Given the description of an element on the screen output the (x, y) to click on. 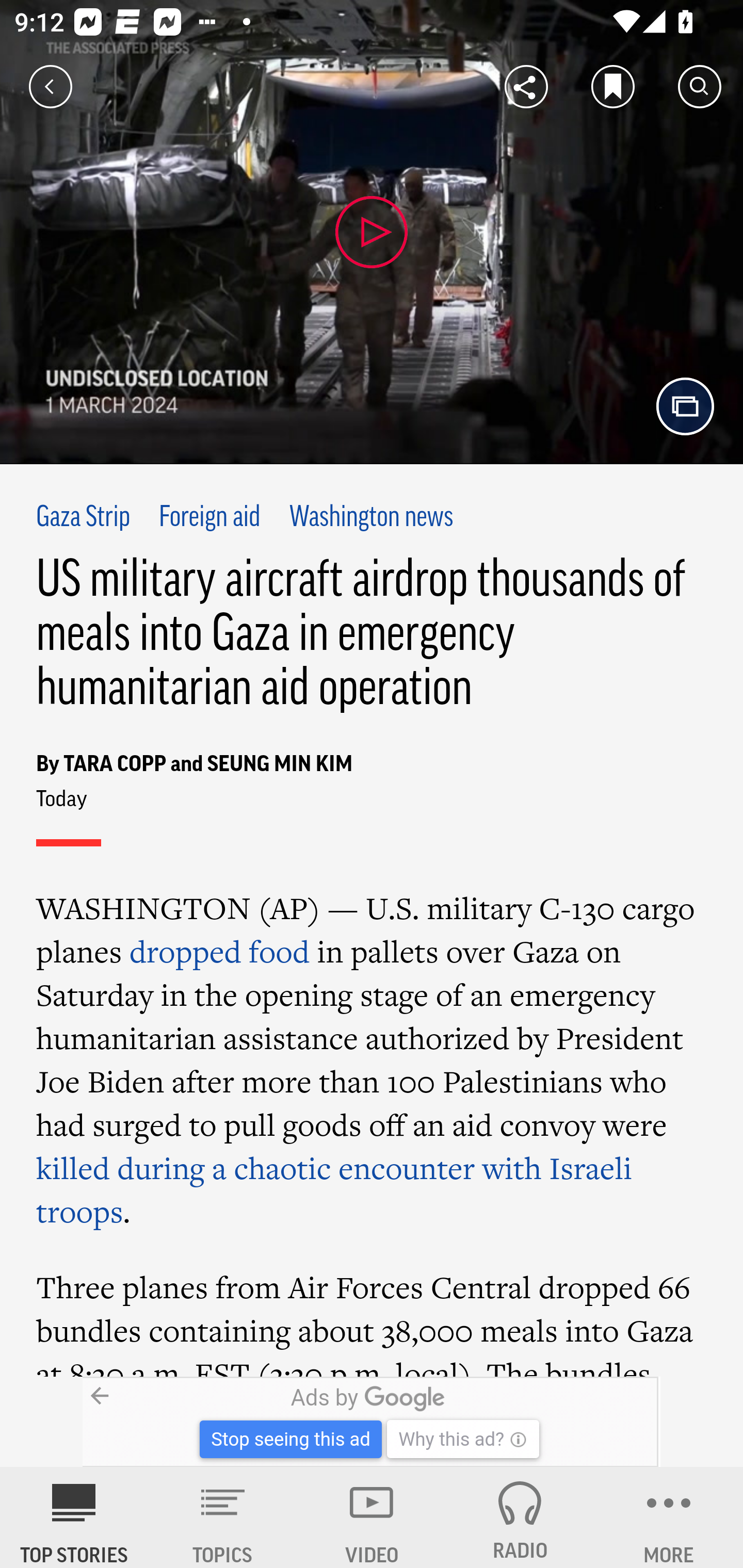
Gaza Strip (83, 518)
Foreign aid (208, 518)
Washington news (371, 518)
dropped food (218, 951)
AP News TOP STORIES (74, 1517)
TOPICS (222, 1517)
VIDEO (371, 1517)
RADIO (519, 1517)
MORE (668, 1517)
